Given the description of an element on the screen output the (x, y) to click on. 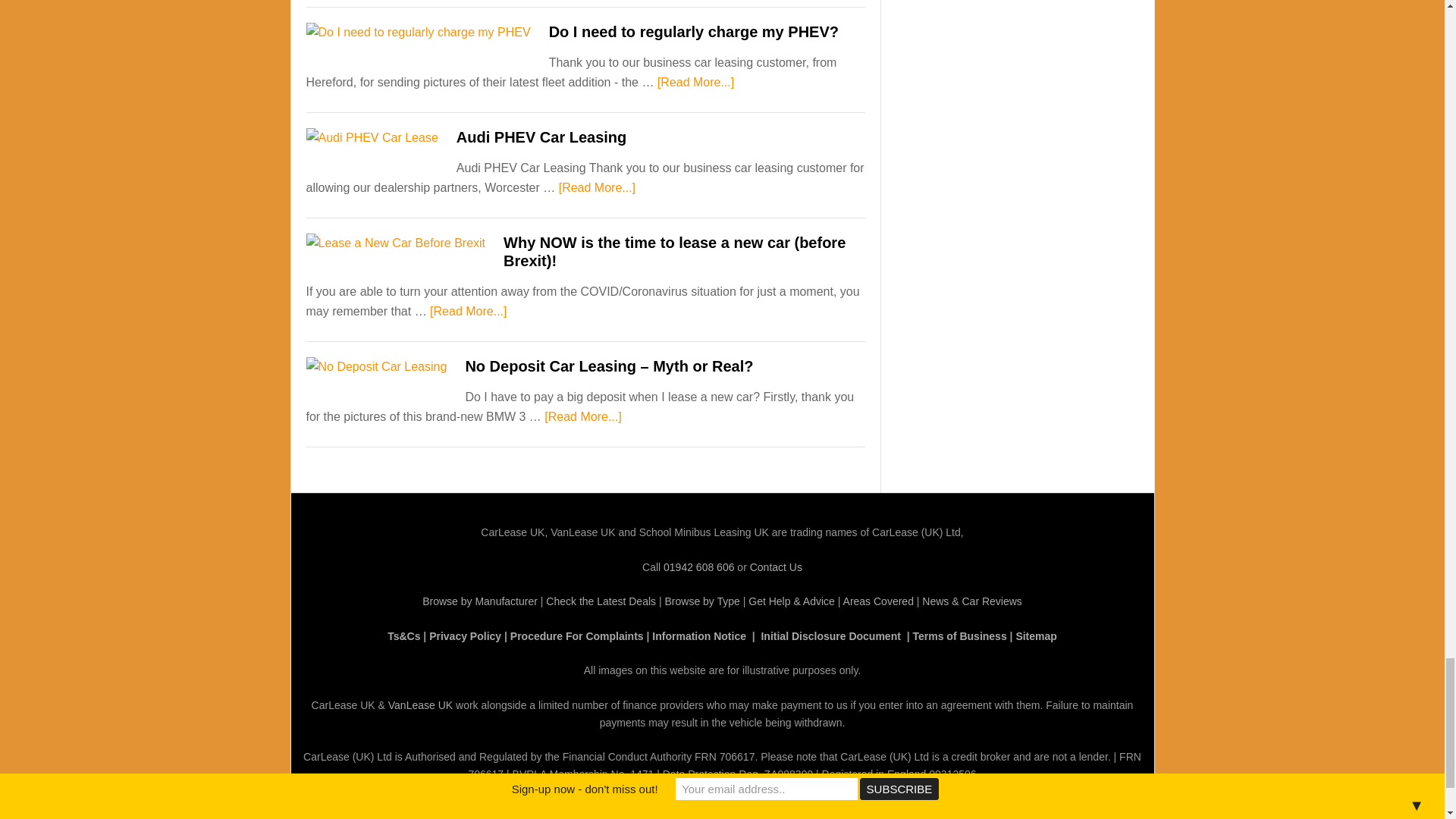
Do I need to regularly charge my PHEV? (693, 31)
Some of the Main Locations we Cover (878, 601)
Find lease cars by body style (701, 601)
Browse the Latest Lease Deals... (601, 601)
Audi PHEV Car Leasing (542, 136)
Browse Lease Cars by Make and Manufacturer... (479, 601)
